Given the description of an element on the screen output the (x, y) to click on. 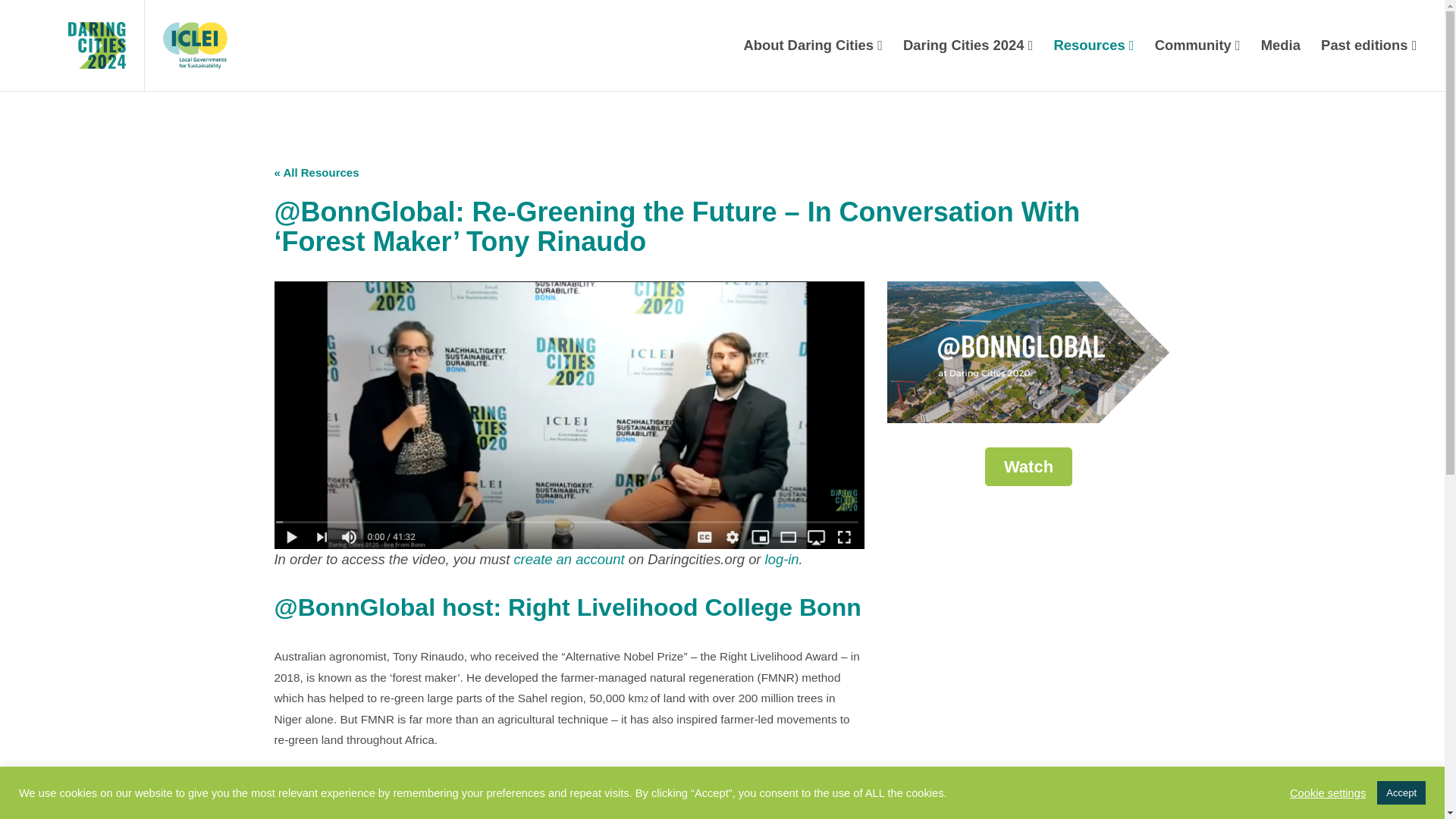
Daring Cities 2024 (967, 45)
Resources (1093, 45)
log-in (782, 559)
Resources (1093, 45)
Daring Cities (71, 45)
Daring Cities 2024 (967, 45)
Community (1197, 45)
create an account (568, 559)
About Daring Cities (813, 45)
Past editions (1368, 45)
Media (1280, 45)
Watch (1028, 466)
About Daring Cities (813, 45)
